Given the description of an element on the screen output the (x, y) to click on. 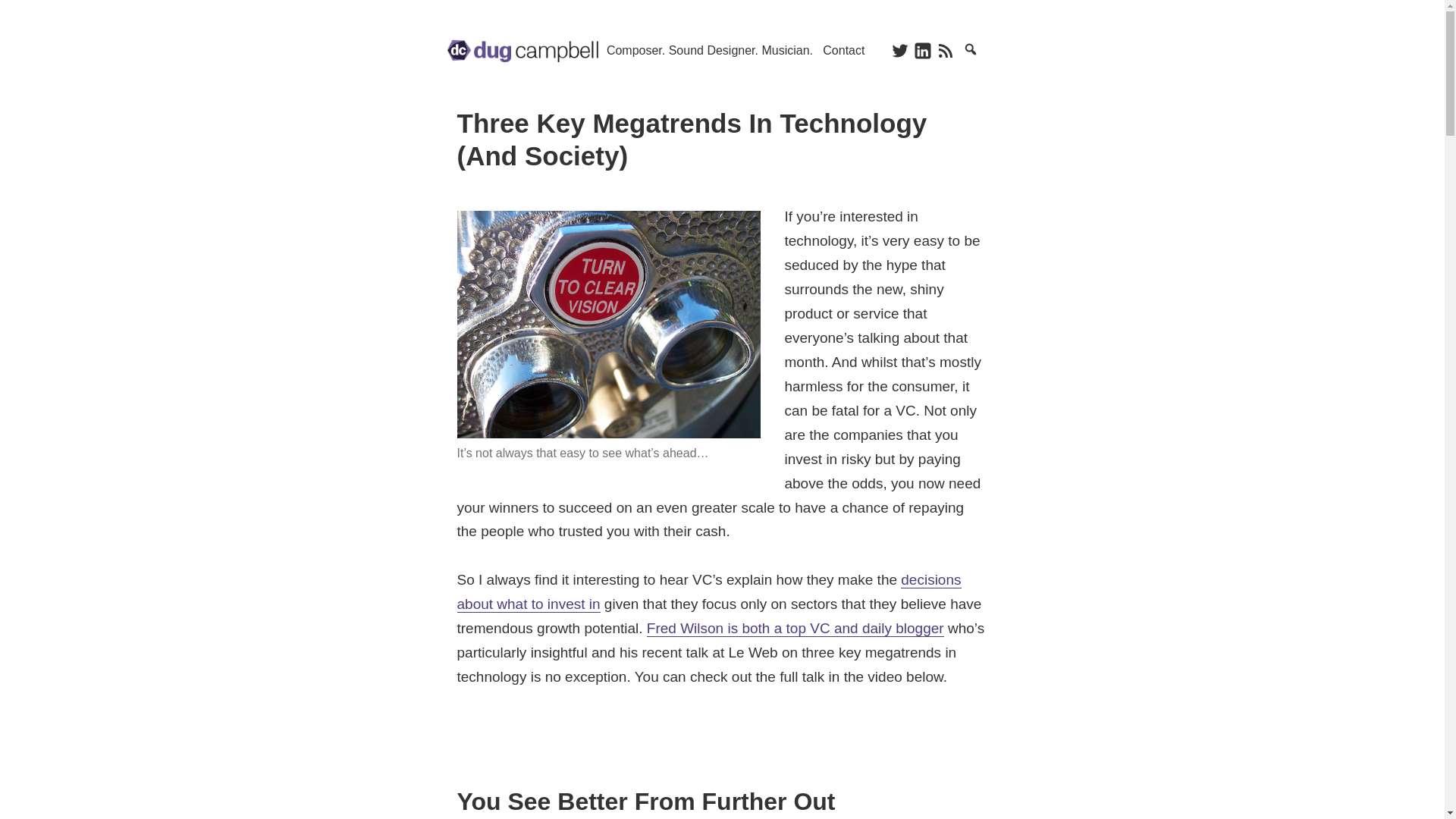
decisions about what to invest in (708, 591)
RSS (954, 59)
Twitter (909, 59)
It's not always that easy to see what's ahead... (608, 324)
Fred Wilson is both a top VC and daily blogger (794, 628)
Contact (843, 50)
Composer. Sound Designer. Musician. (709, 50)
LinkedIn (932, 59)
